Given the description of an element on the screen output the (x, y) to click on. 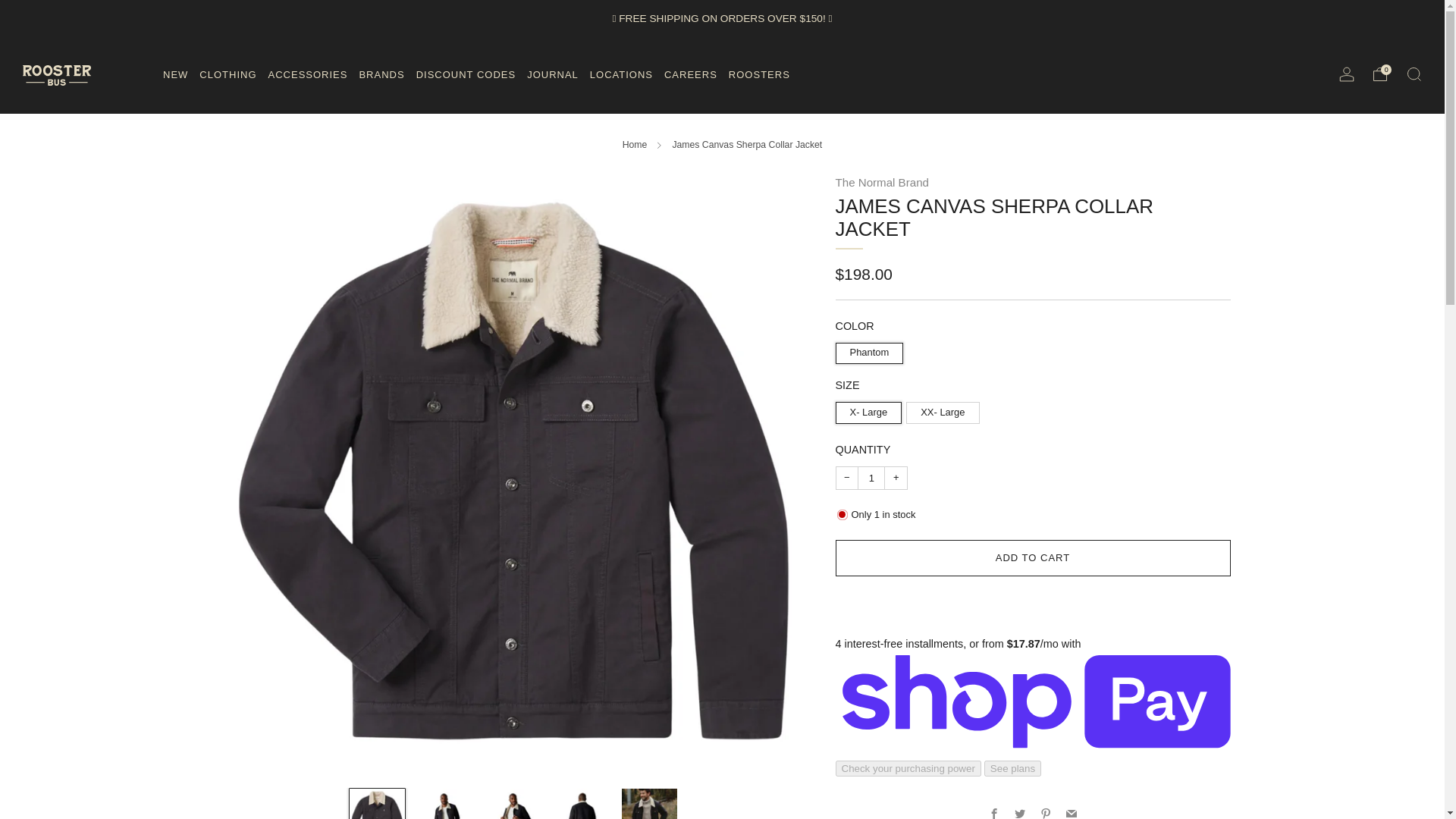
Phantom (871, 349)
The Normal Brand (881, 182)
Home (635, 144)
XX- Large (944, 409)
NEW (175, 74)
X- Large (871, 409)
CLOTHING (227, 74)
1 (871, 477)
